Given the description of an element on the screen output the (x, y) to click on. 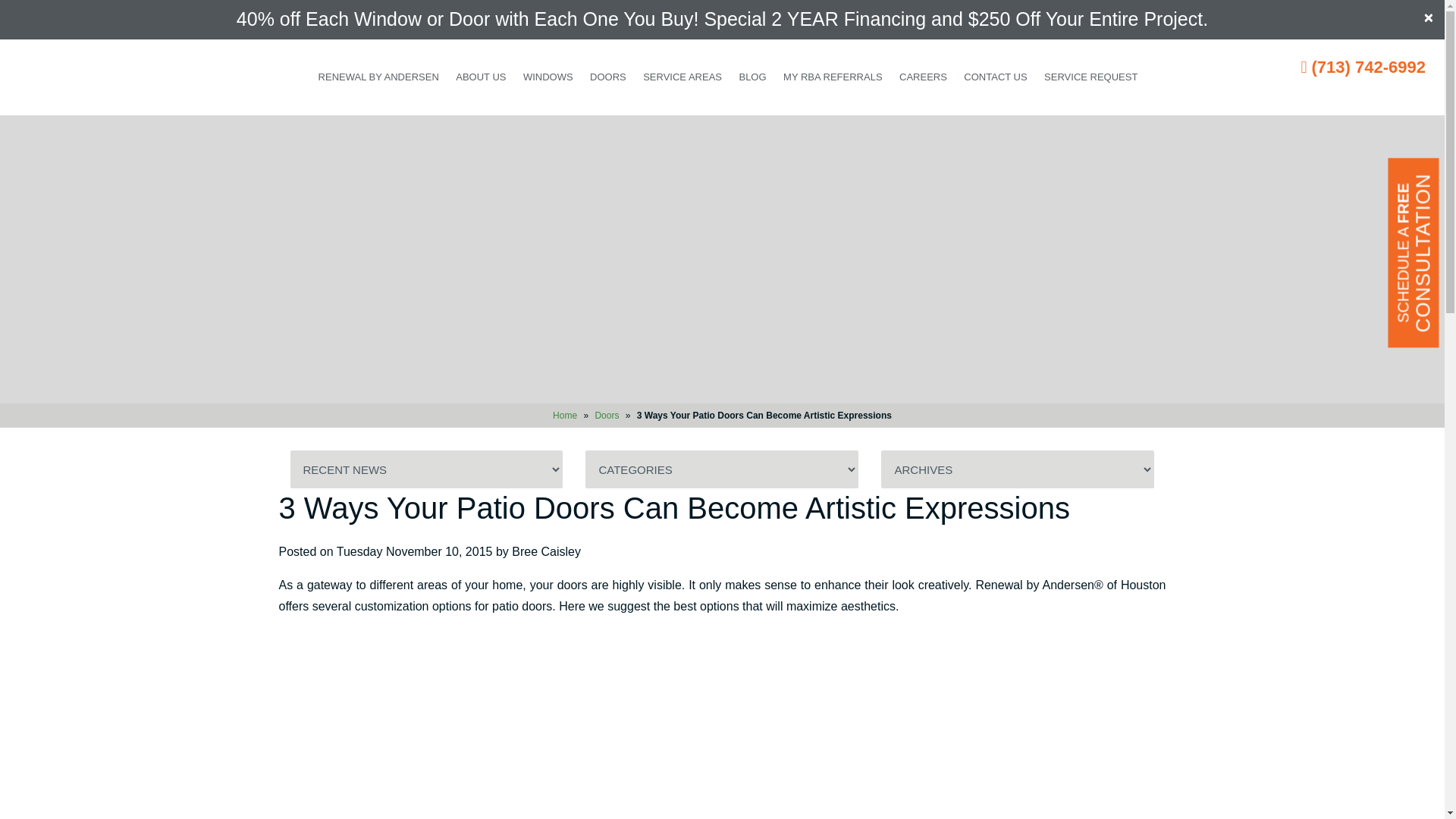
SERVICE AREAS (682, 77)
WINDOWS (547, 77)
ABOUT US (480, 77)
RENEWAL BY ANDERSEN (378, 77)
DOORS (608, 77)
